Given the description of an element on the screen output the (x, y) to click on. 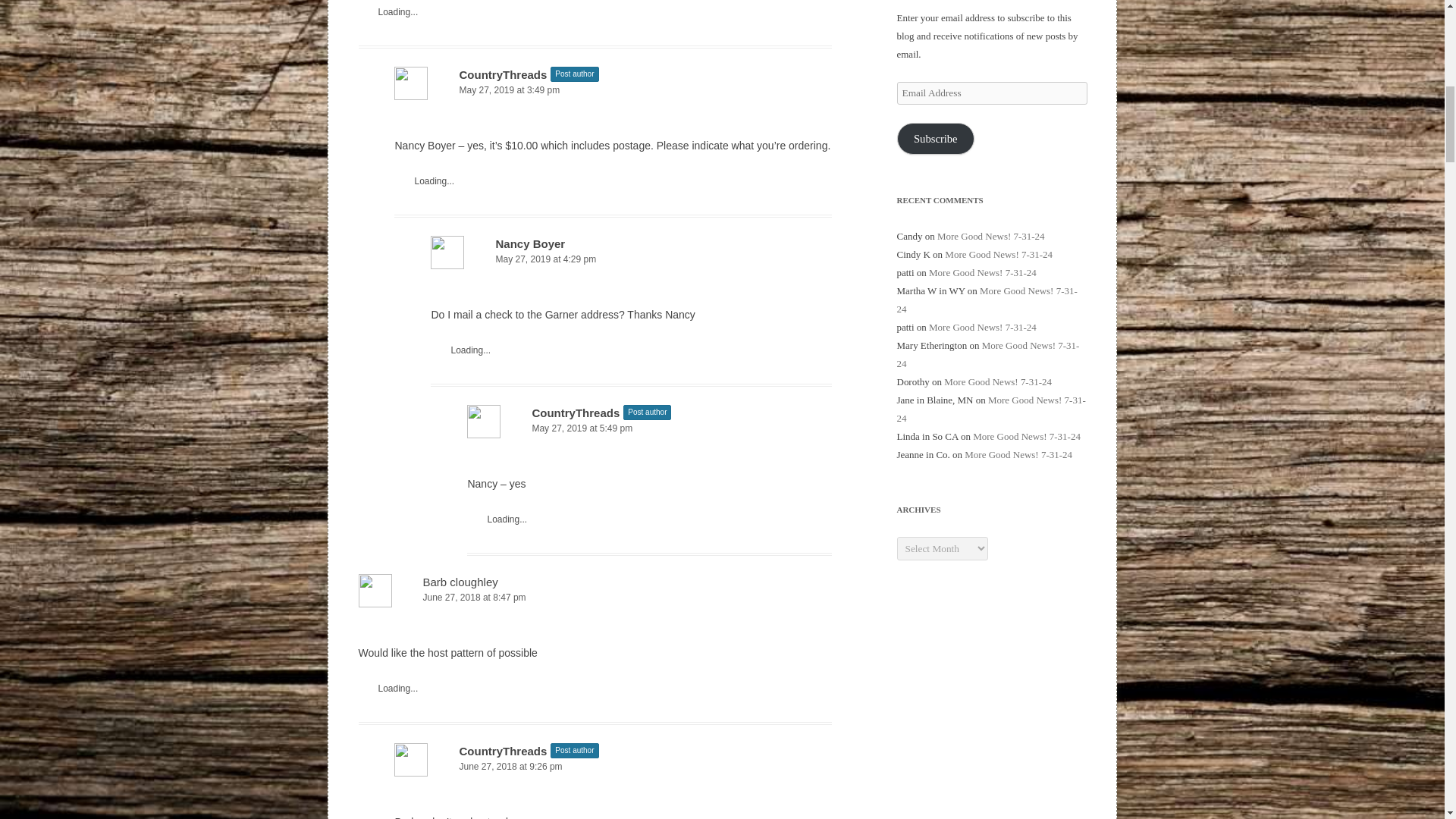
May 27, 2019 at 5:49 pm (649, 428)
May 27, 2019 at 3:49 pm (612, 90)
June 27, 2018 at 8:47 pm (594, 597)
June 27, 2018 at 9:26 pm (612, 766)
May 27, 2019 at 4:29 pm (630, 259)
